Given the description of an element on the screen output the (x, y) to click on. 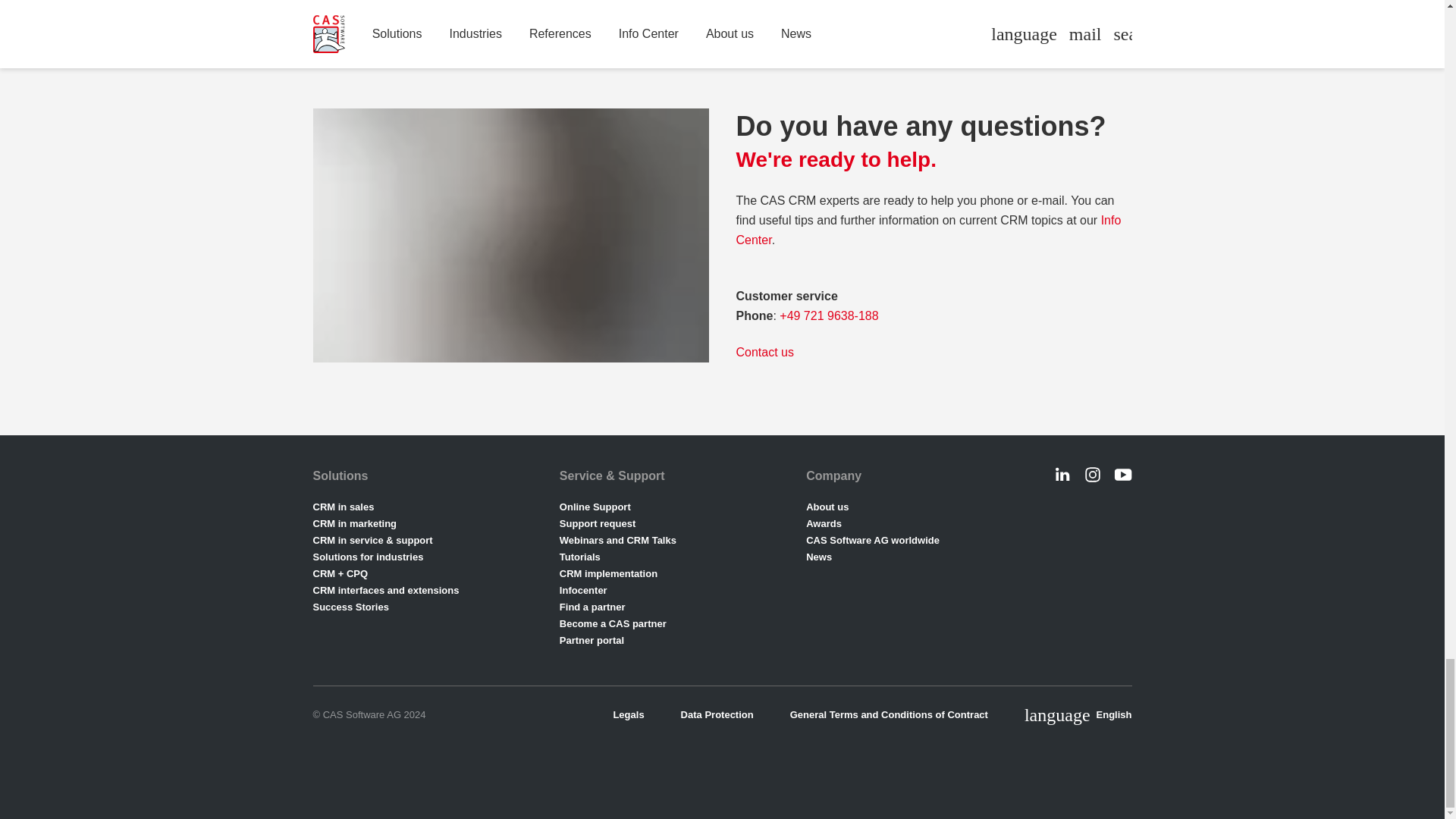
YouTube (1122, 475)
LinkedIn (1061, 475)
Instagram (1091, 475)
